Given the description of an element on the screen output the (x, y) to click on. 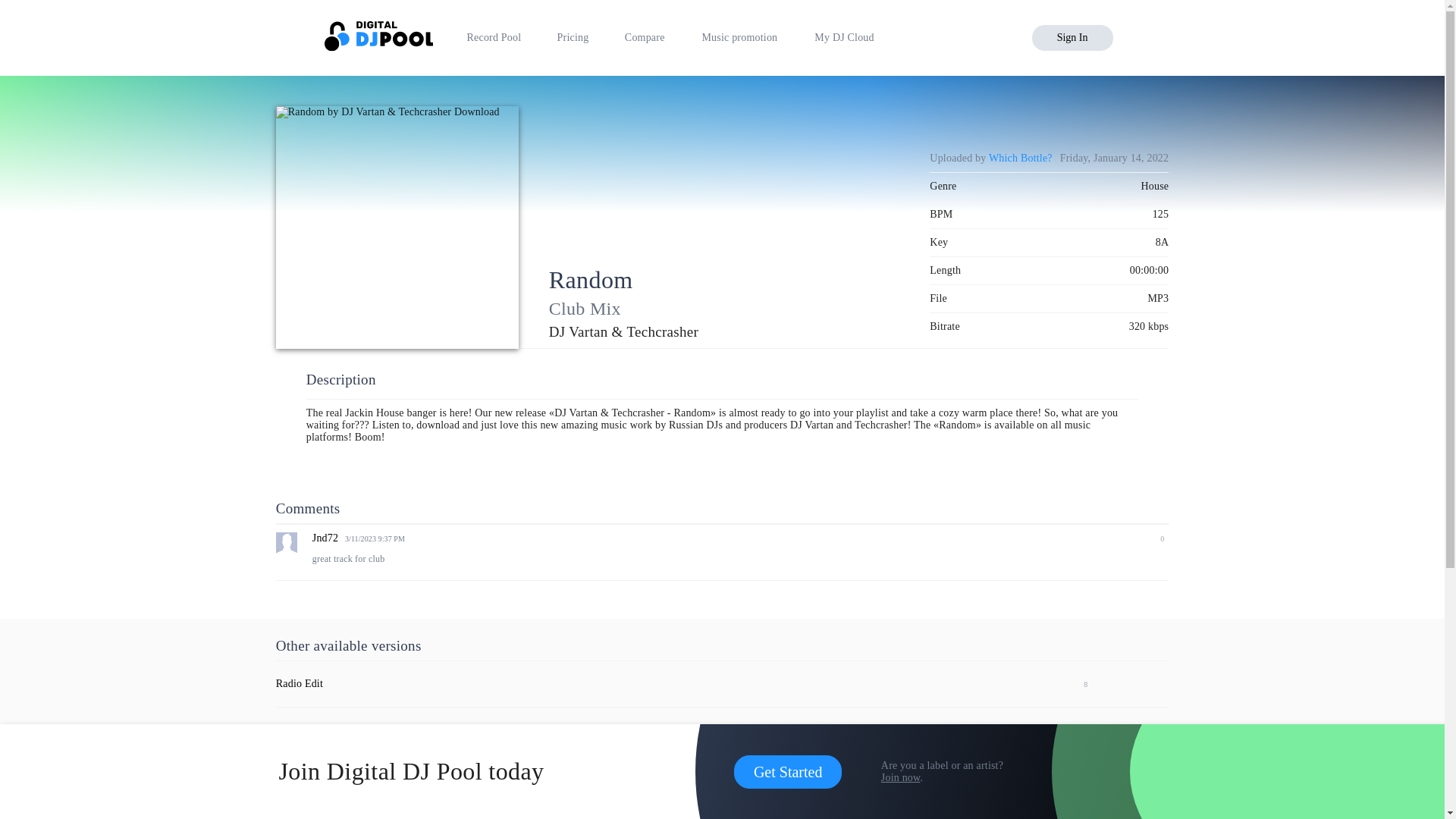
My DJ Cloud (844, 37)
Record Pool (493, 37)
0 (1155, 538)
Join now (900, 777)
Compare (644, 37)
Compare (644, 37)
Jnd72 (325, 537)
597 (1077, 807)
Radio Edit (299, 683)
Get Started (788, 771)
